Given the description of an element on the screen output the (x, y) to click on. 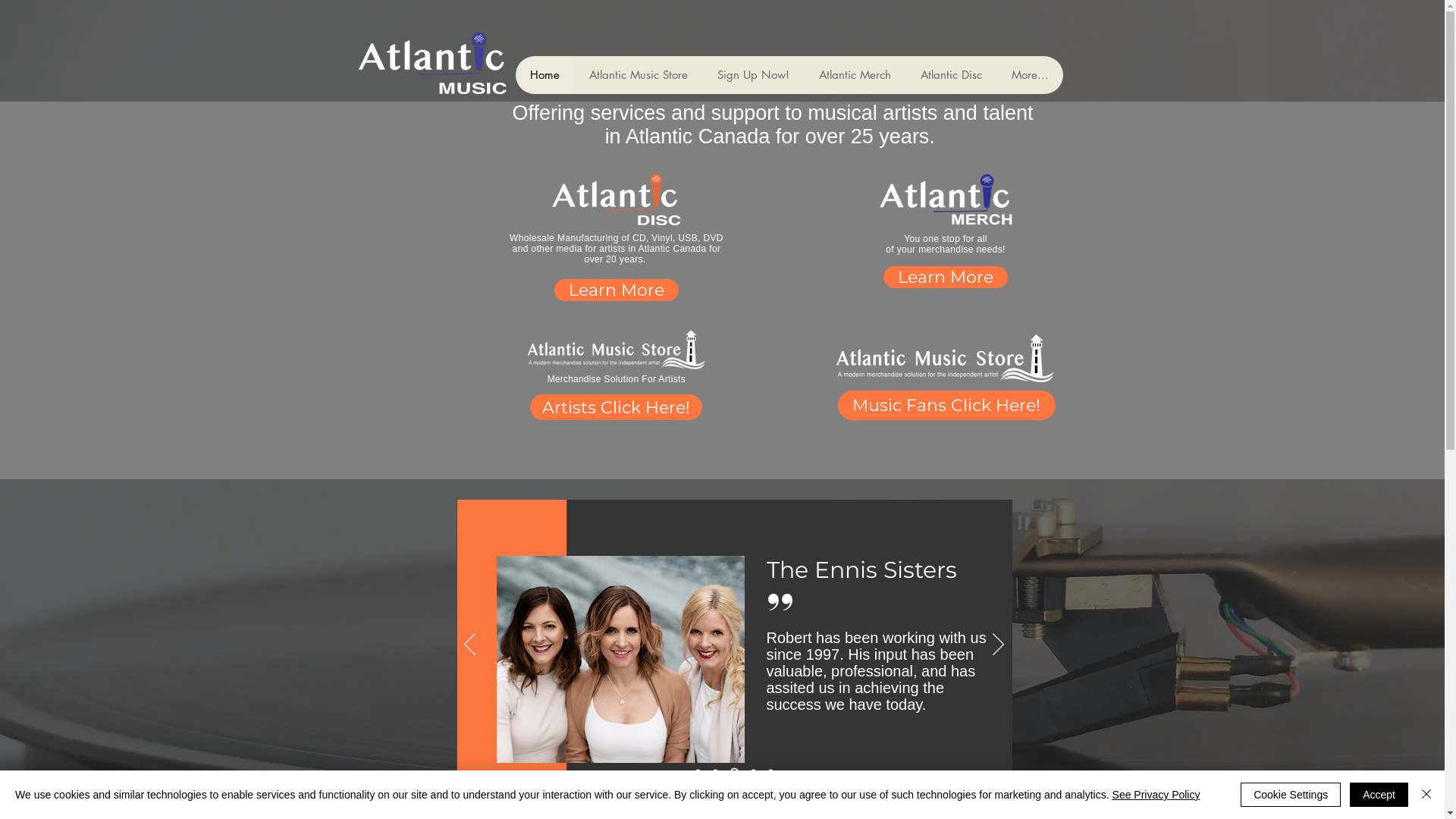
See Privacy Policy Element type: text (1156, 794)
Sign Up Now! Element type: text (752, 75)
Cookie Settings Element type: text (1290, 794)
Artists Click Here! Element type: text (615, 407)
Atlantic Merch Element type: text (854, 75)
Music Fans Click Here! Element type: text (945, 405)
Atlantic Music Store Element type: text (637, 75)
Learn More Element type: text (944, 277)
Home Element type: text (544, 75)
Girl by the Sea Element type: hover (619, 658)
Accept Element type: text (1378, 794)
Atlantic Disc Element type: text (950, 75)
Learn More Element type: text (615, 290)
